Given the description of an element on the screen output the (x, y) to click on. 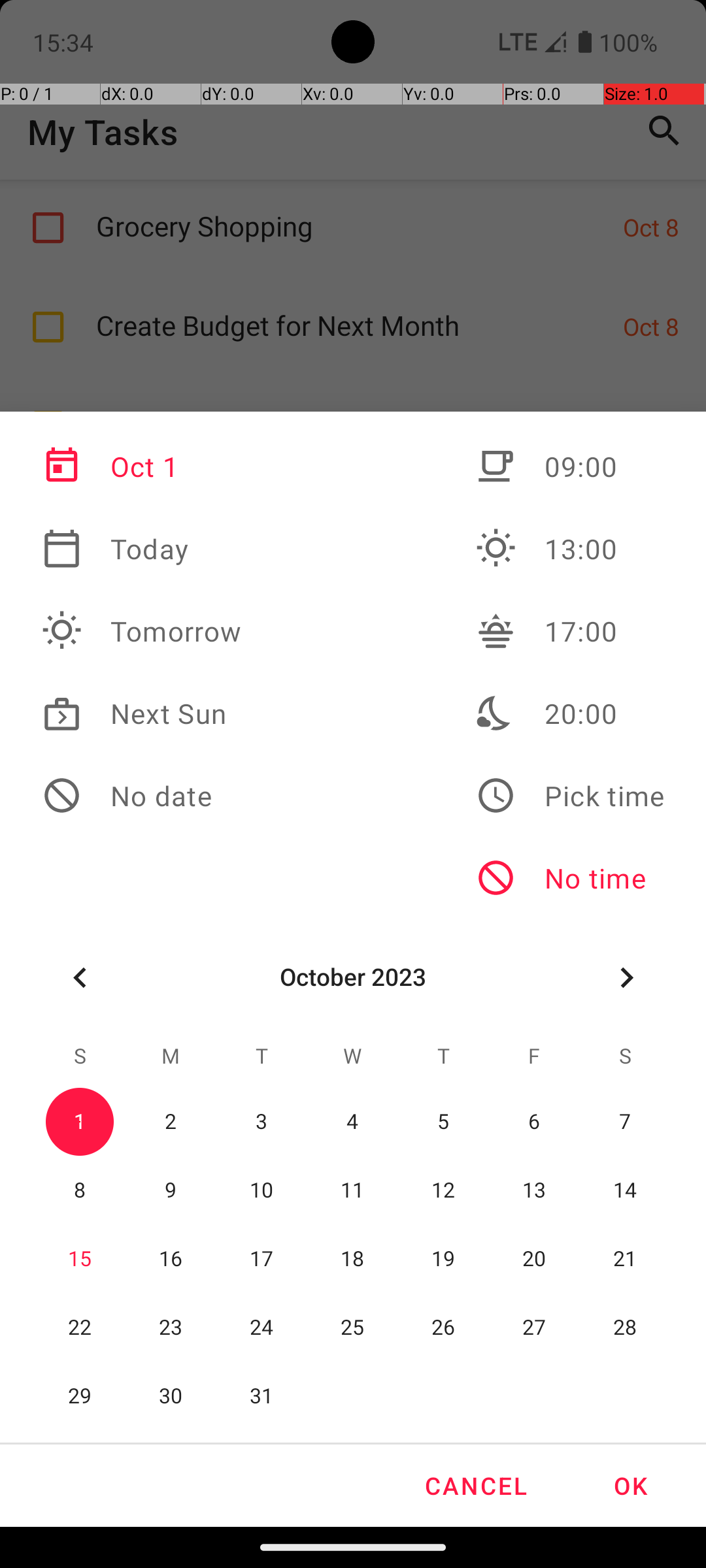
Oct 1 Element type: android.widget.CompoundButton (141, 466)
